Given the description of an element on the screen output the (x, y) to click on. 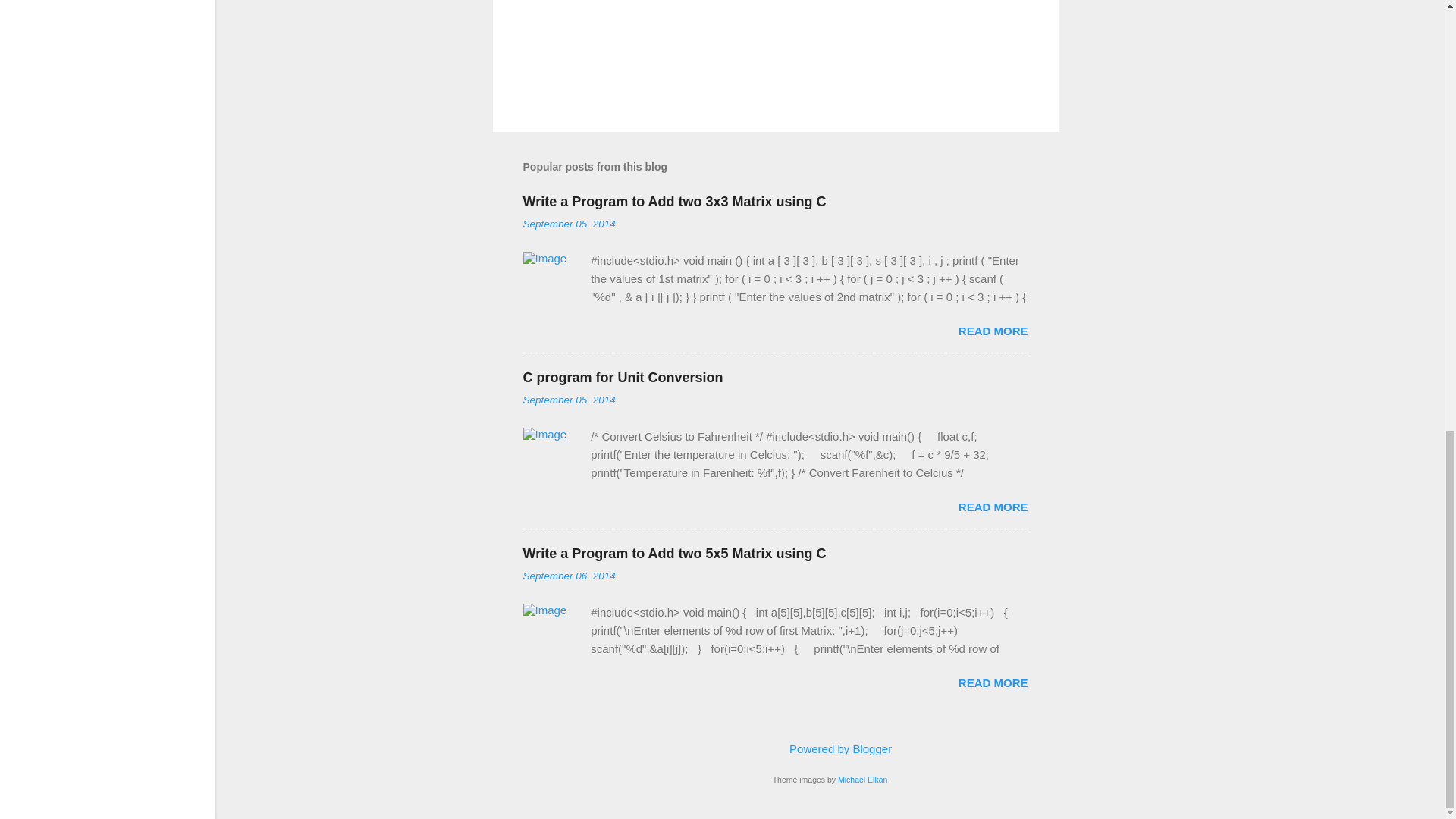
C program for Unit Conversion (622, 377)
Michael Elkan (862, 778)
READ MORE (992, 506)
September 06, 2014 (568, 575)
September 05, 2014 (568, 399)
READ MORE (992, 682)
Write a Program to Add two 5x5 Matrix using C (674, 553)
Advertisement (1118, 41)
READ MORE (992, 330)
Powered by Blogger (829, 748)
September 05, 2014 (568, 224)
Write a Program to Add two 3x3 Matrix using C (674, 201)
